Given the description of an element on the screen output the (x, y) to click on. 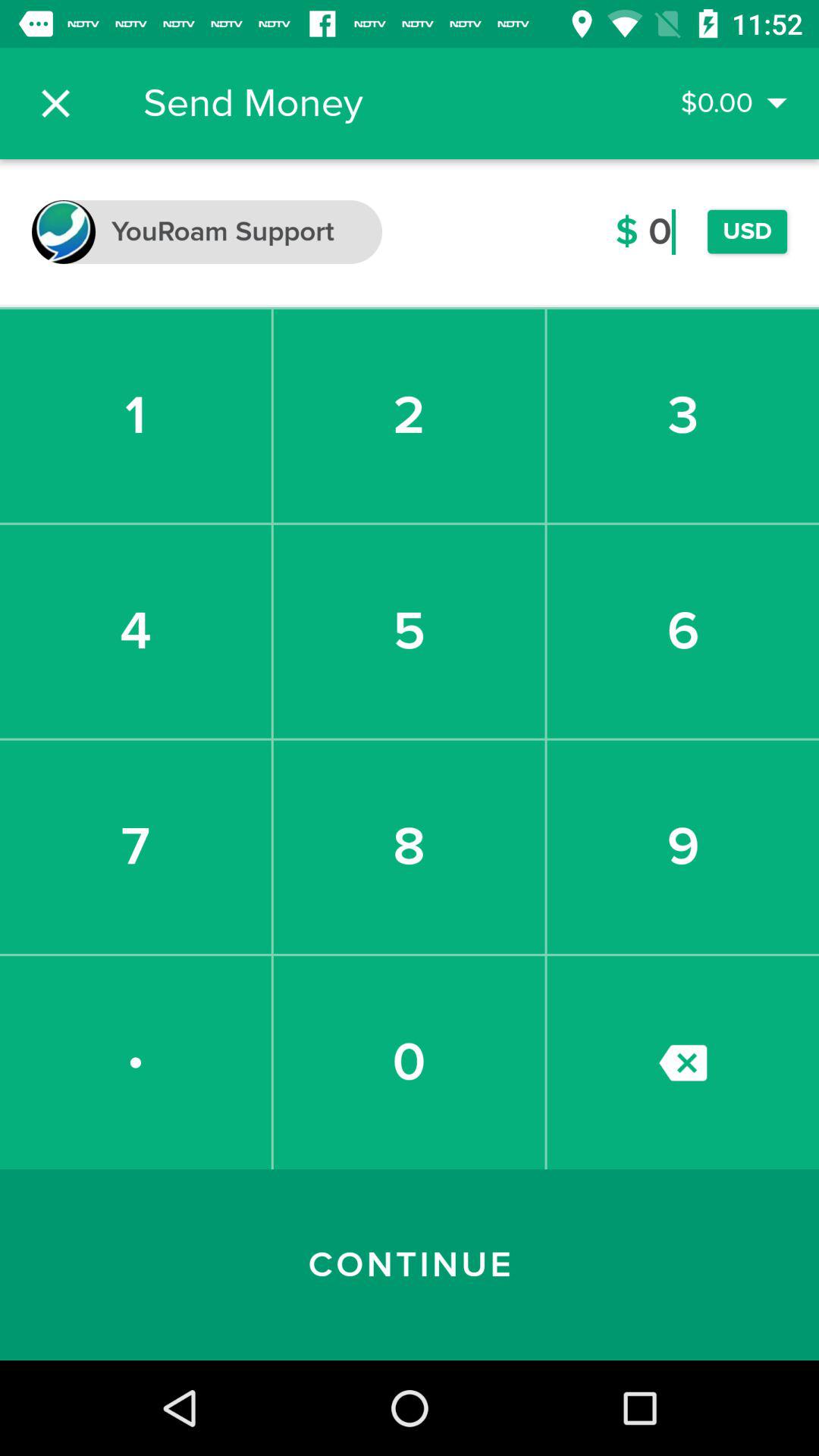
select . (135, 1062)
